Given the description of an element on the screen output the (x, y) to click on. 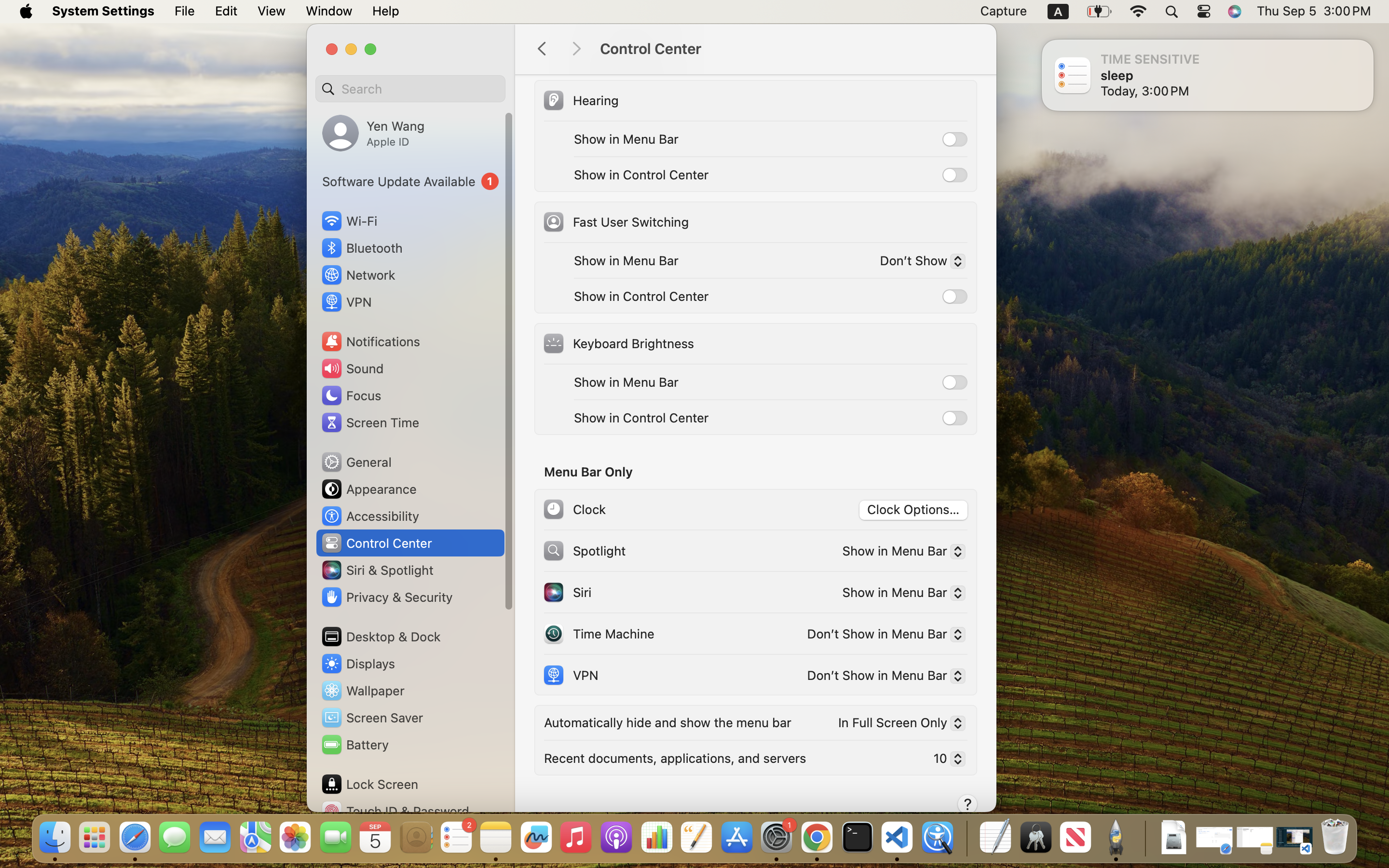
Hearing Element type: AXStaticText (580, 99)
Show in Menu Bar Element type: AXPopUpButton (899, 553)
Yen Wang, Apple ID Element type: AXStaticText (373, 132)
Wallpaper Element type: AXStaticText (362, 690)
Wi‑Fi Element type: AXStaticText (348, 220)
